Given the description of an element on the screen output the (x, y) to click on. 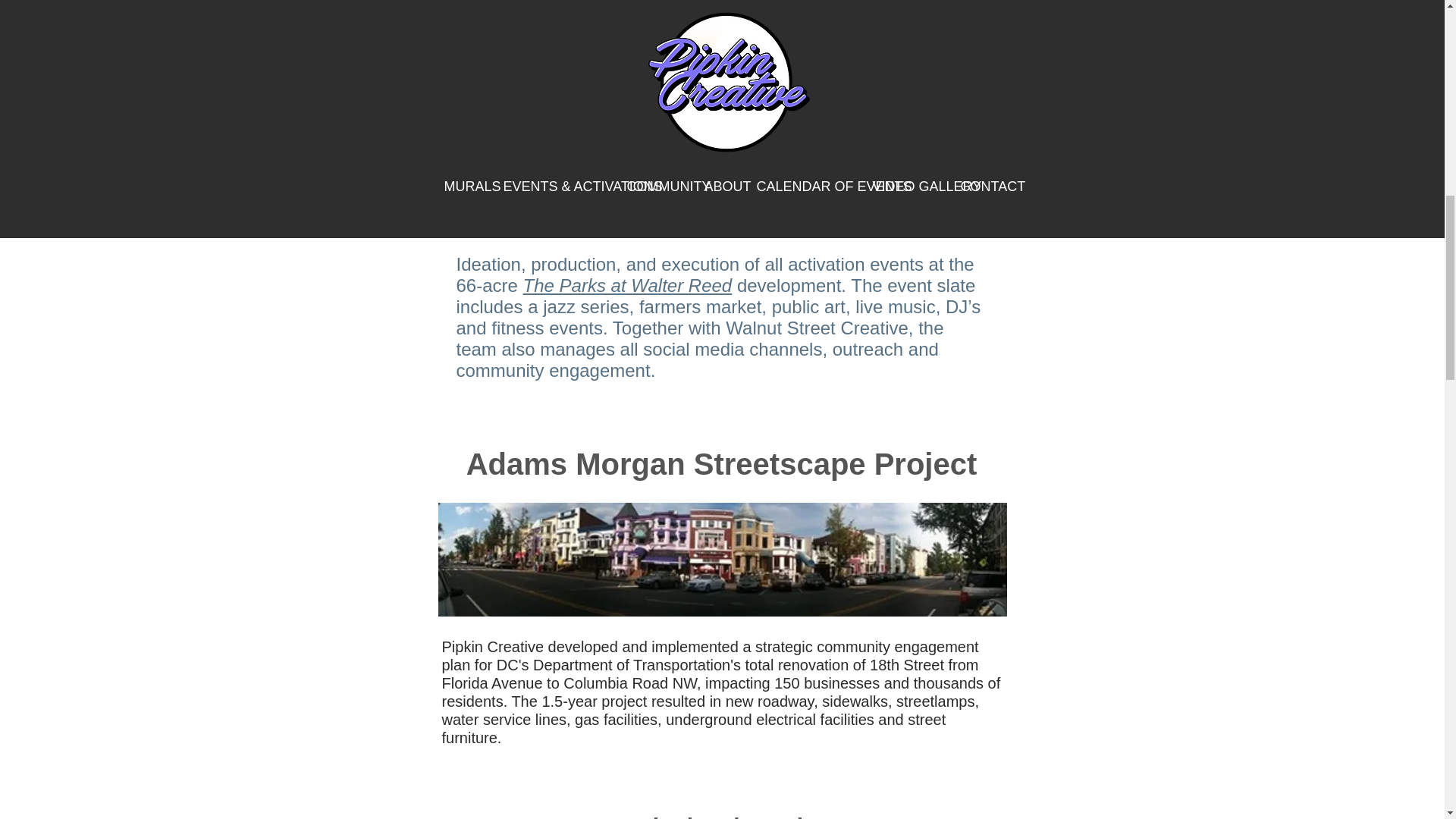
See some great videos on their YouTube playlist (707, 210)
The Parks at Walter Reed (627, 285)
